Given the description of an element on the screen output the (x, y) to click on. 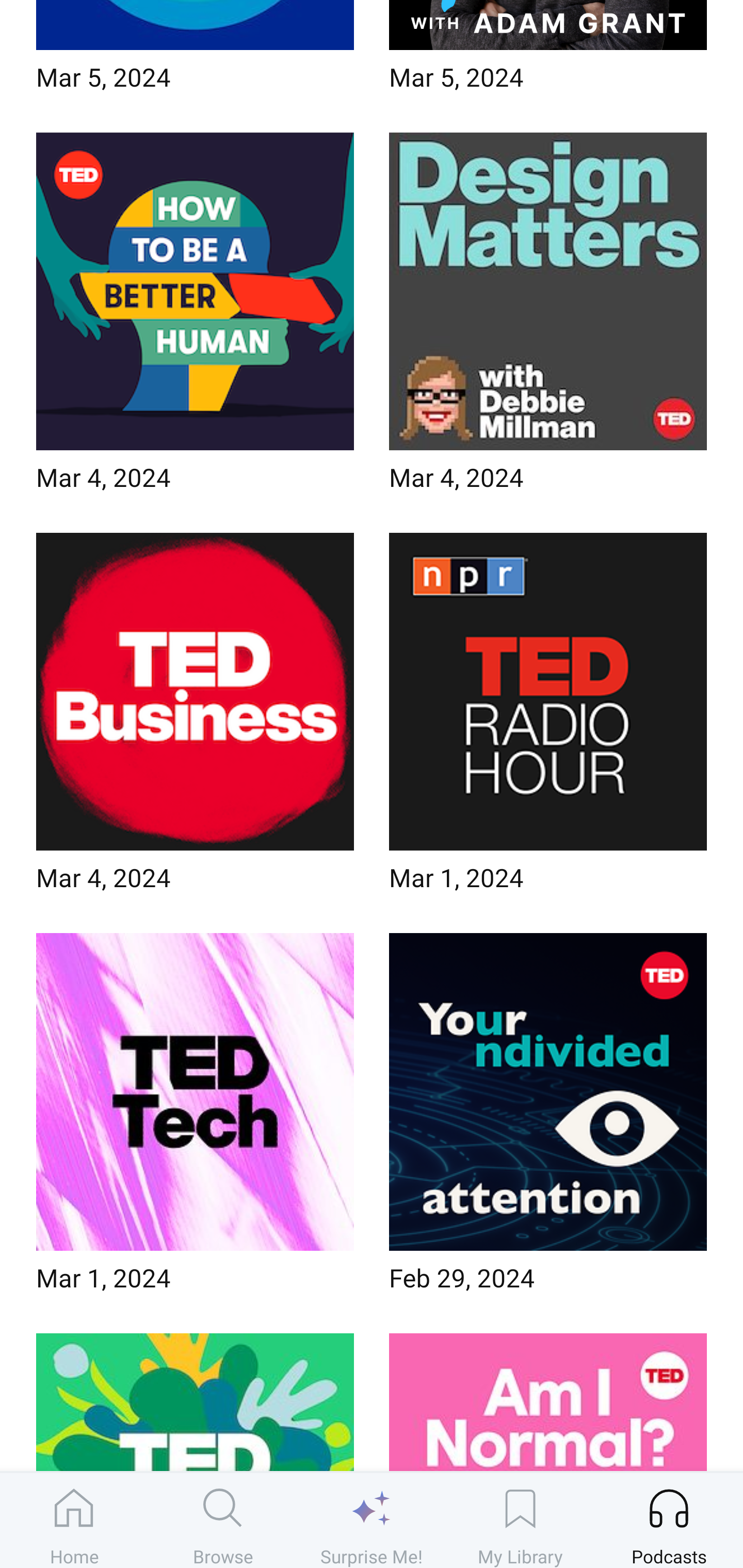
Mar 4, 2024 (194, 318)
Mar 4, 2024 (547, 318)
Mar 4, 2024 (194, 718)
Mar 1, 2024 (547, 718)
Mar 1, 2024 (194, 1118)
Feb 29, 2024 (547, 1118)
Home (74, 1520)
Browse (222, 1520)
Surprise Me! (371, 1520)
My Library (519, 1520)
Podcasts (668, 1520)
